Given the description of an element on the screen output the (x, y) to click on. 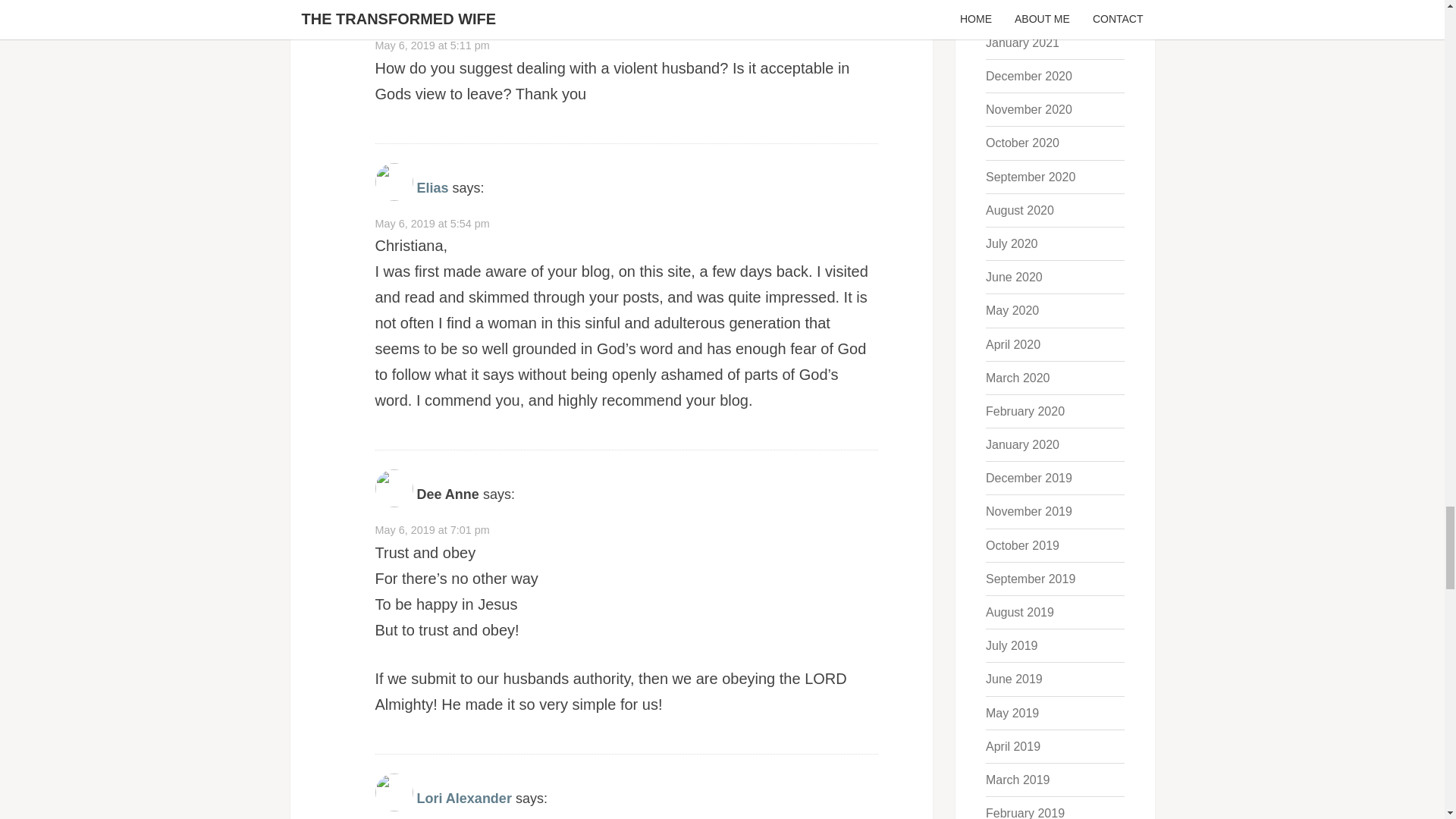
Elias (432, 187)
Lori Alexander (464, 798)
May 6, 2019 at 7:01 pm (431, 530)
May 6, 2019 at 5:54 pm (431, 223)
May 6, 2019 at 5:11 pm (431, 45)
